Given the description of an element on the screen output the (x, y) to click on. 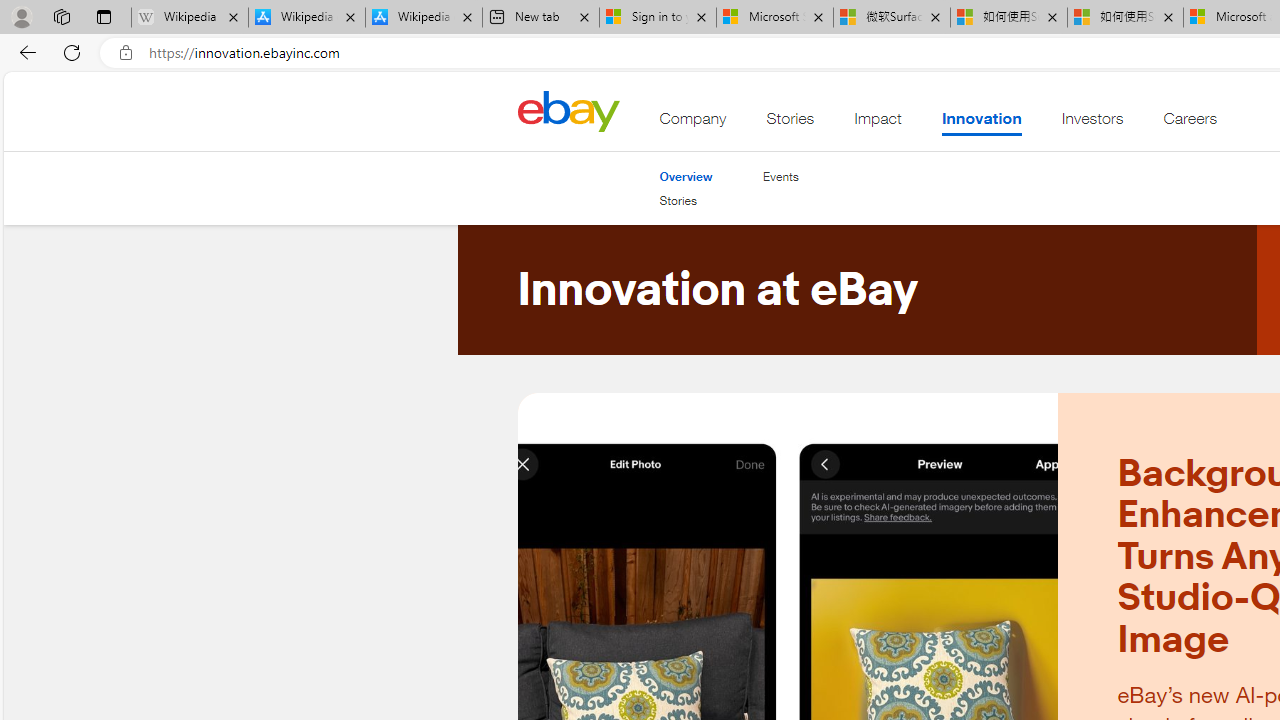
Company (693, 123)
Impact (877, 123)
